Given the description of an element on the screen output the (x, y) to click on. 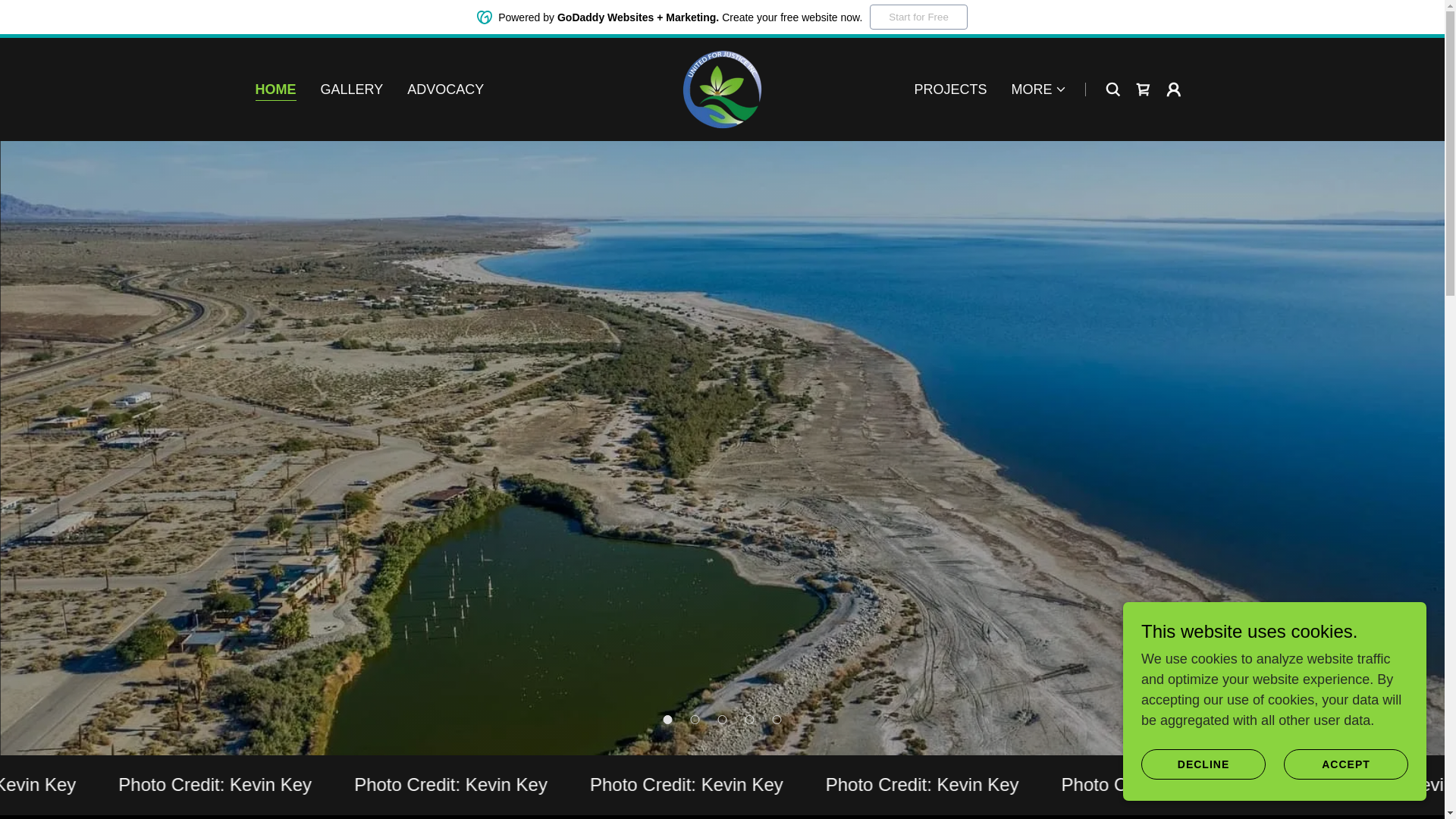
GALLERY (351, 89)
HOME (274, 90)
ADVOCACY (445, 89)
MORE (1038, 89)
United For Justice Inc. (721, 88)
PROJECTS (949, 89)
